Given the description of an element on the screen output the (x, y) to click on. 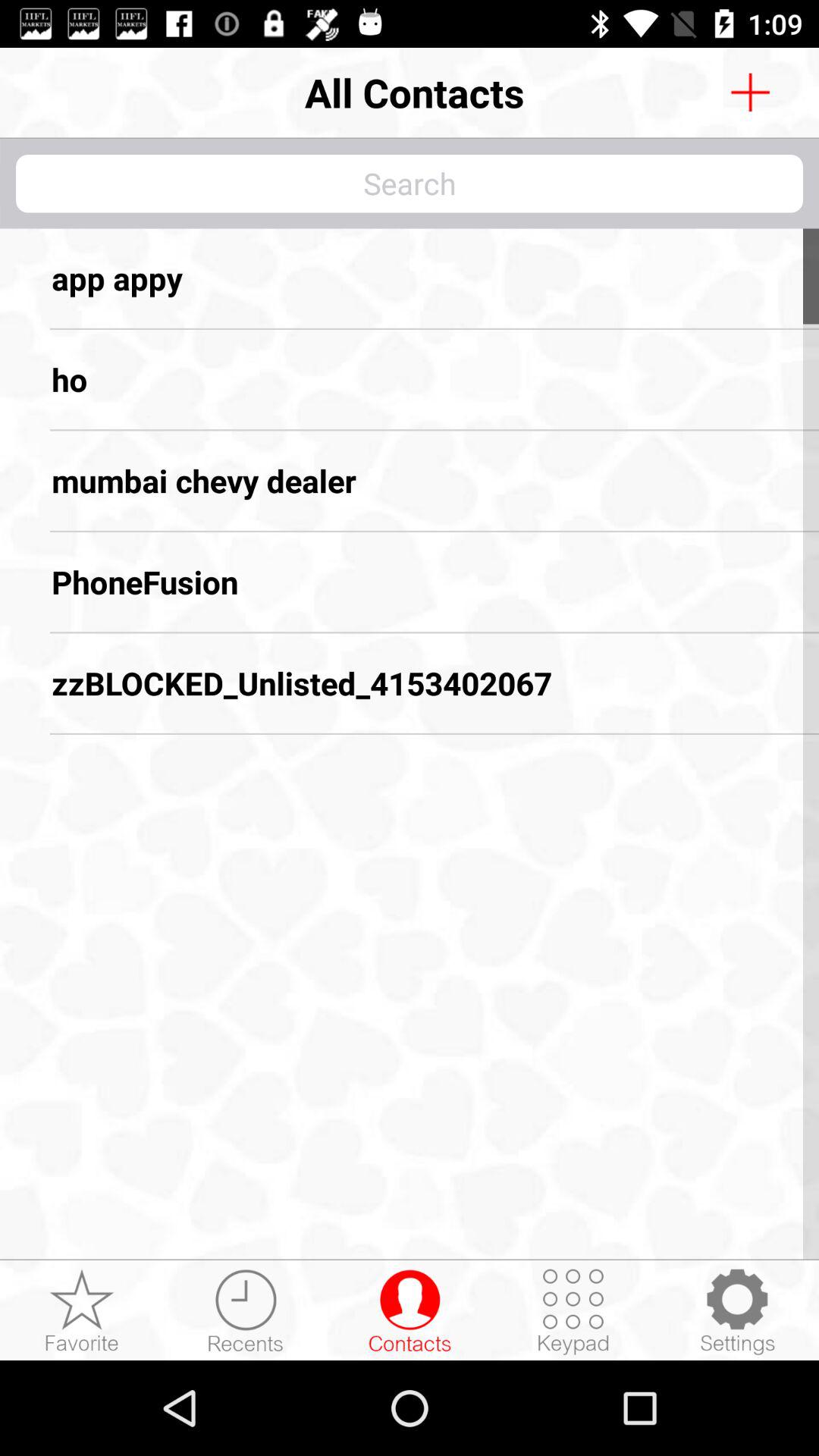
go to contacts list (409, 1311)
